Given the description of an element on the screen output the (x, y) to click on. 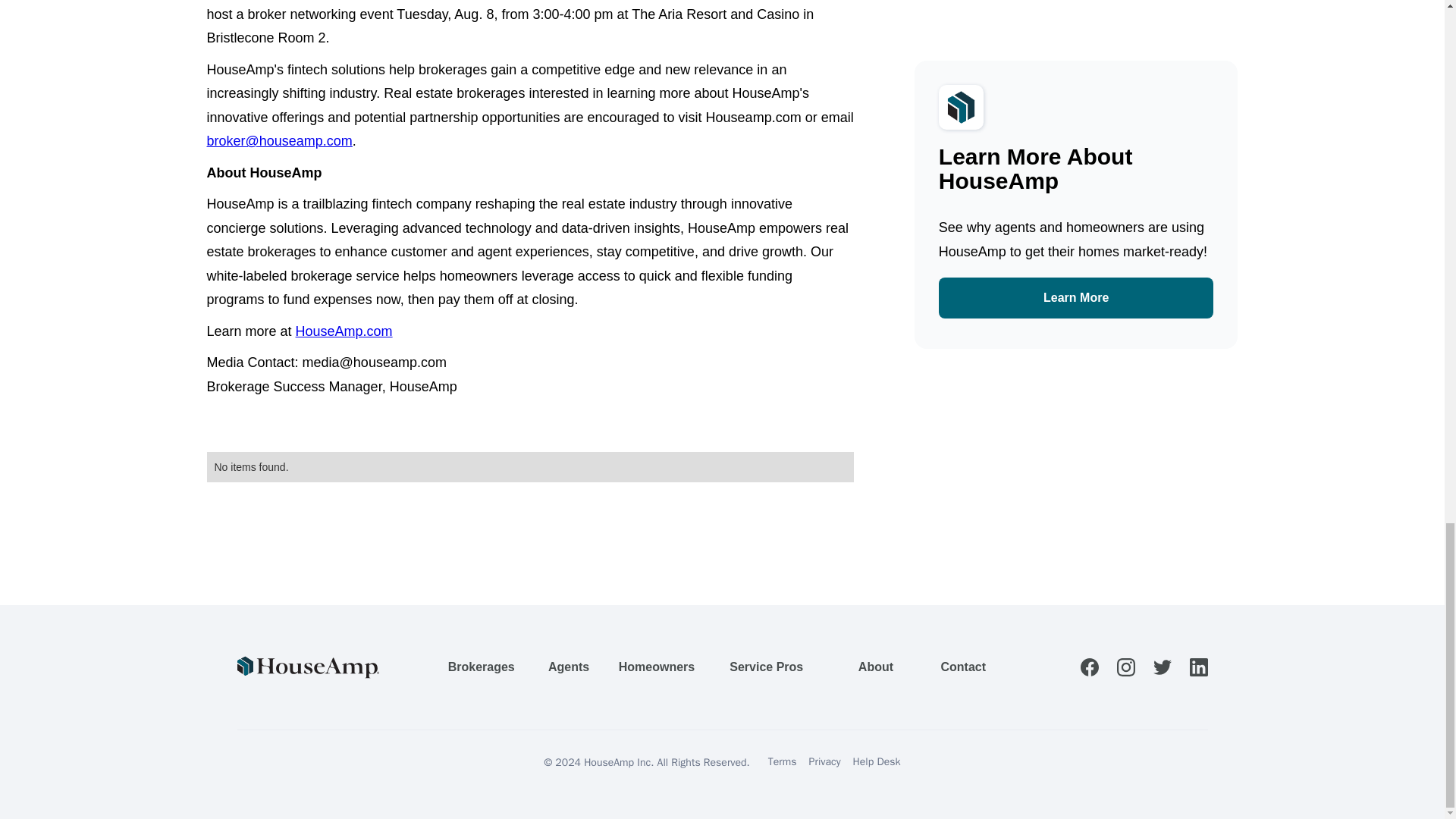
HouseAmp.com (344, 331)
Service Pros (766, 666)
Agents (568, 666)
Privacy (825, 762)
About (875, 666)
Brokerages (481, 666)
Help Desk (877, 762)
Contact (962, 666)
Terms (782, 762)
Homeowners (656, 666)
